Given the description of an element on the screen output the (x, y) to click on. 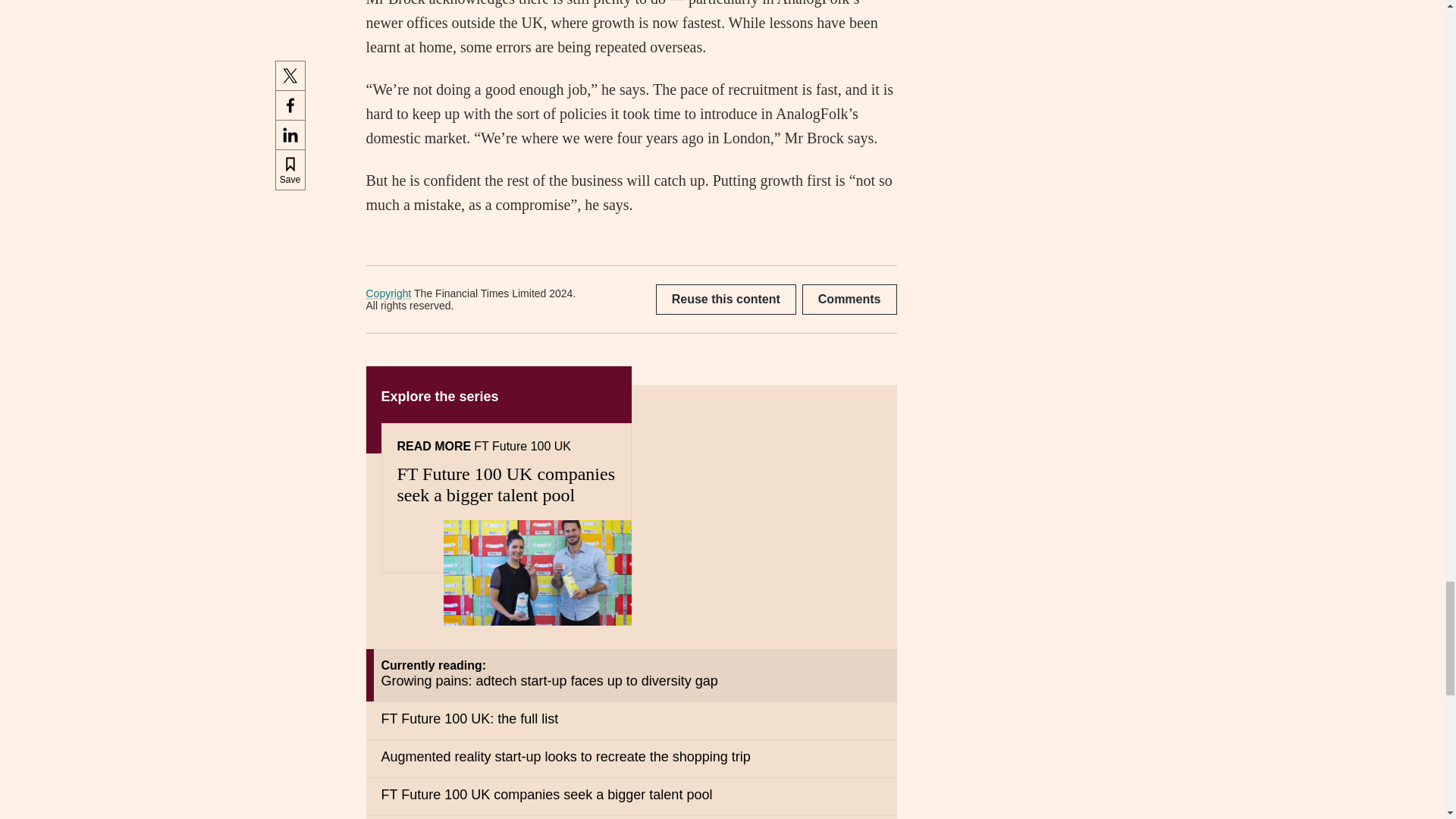
Jump to comments section (849, 299)
